Given the description of an element on the screen output the (x, y) to click on. 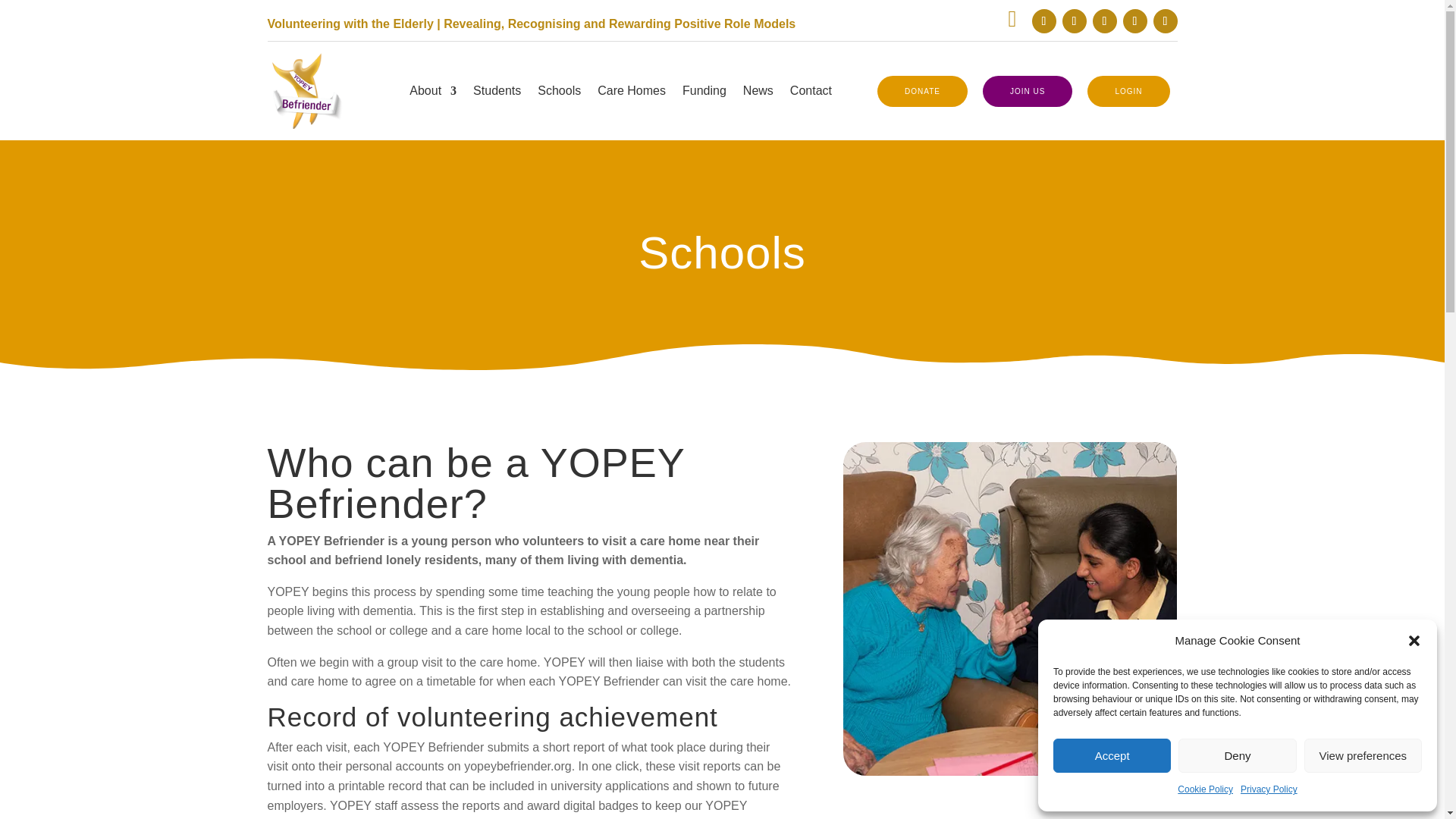
Privacy Policy (1268, 790)
Deny (1236, 755)
Schools (1009, 608)
Care Homes (630, 93)
News (757, 93)
Follow on LinkedIn (1104, 21)
About (433, 93)
Contact (810, 93)
Funding (704, 93)
DONATE (922, 91)
Cookie Policy (1205, 790)
Students (497, 93)
Schools (558, 93)
logo (304, 90)
JOIN US (1026, 91)
